Given the description of an element on the screen output the (x, y) to click on. 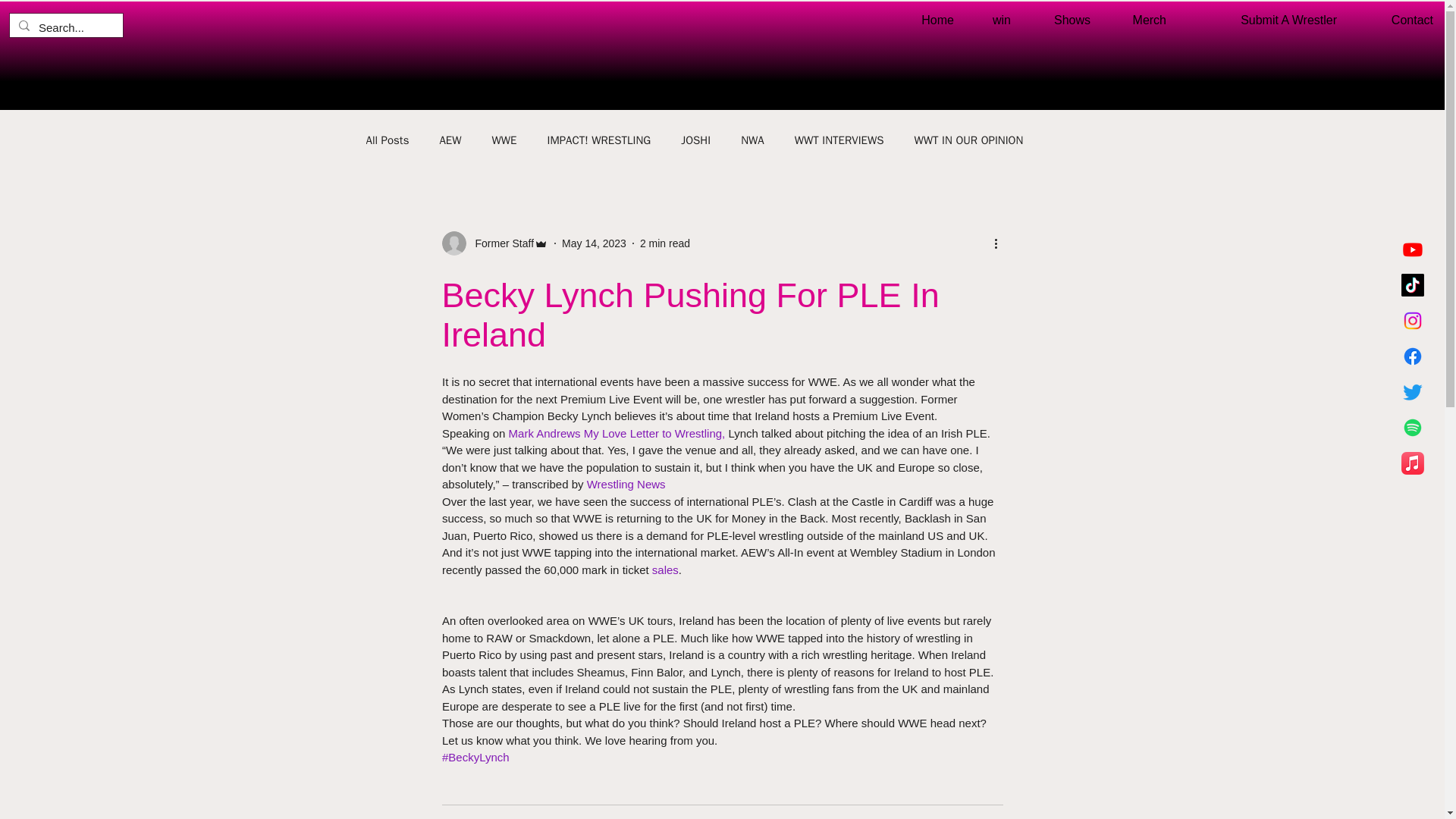
Submit A Wrestler (1262, 20)
WWT INTERVIEWS (838, 140)
Shows (1062, 20)
May 14, 2023 (594, 242)
Home (930, 20)
WWE (504, 140)
2 min read (665, 242)
Merch (1139, 20)
Wrestling News (625, 483)
win (993, 20)
IMPACT! WRESTLING (598, 140)
NWA (752, 140)
Mark Andrews My Love Letter to Wrestling,  (618, 431)
sales (664, 568)
Former Staff (494, 242)
